Given the description of an element on the screen output the (x, y) to click on. 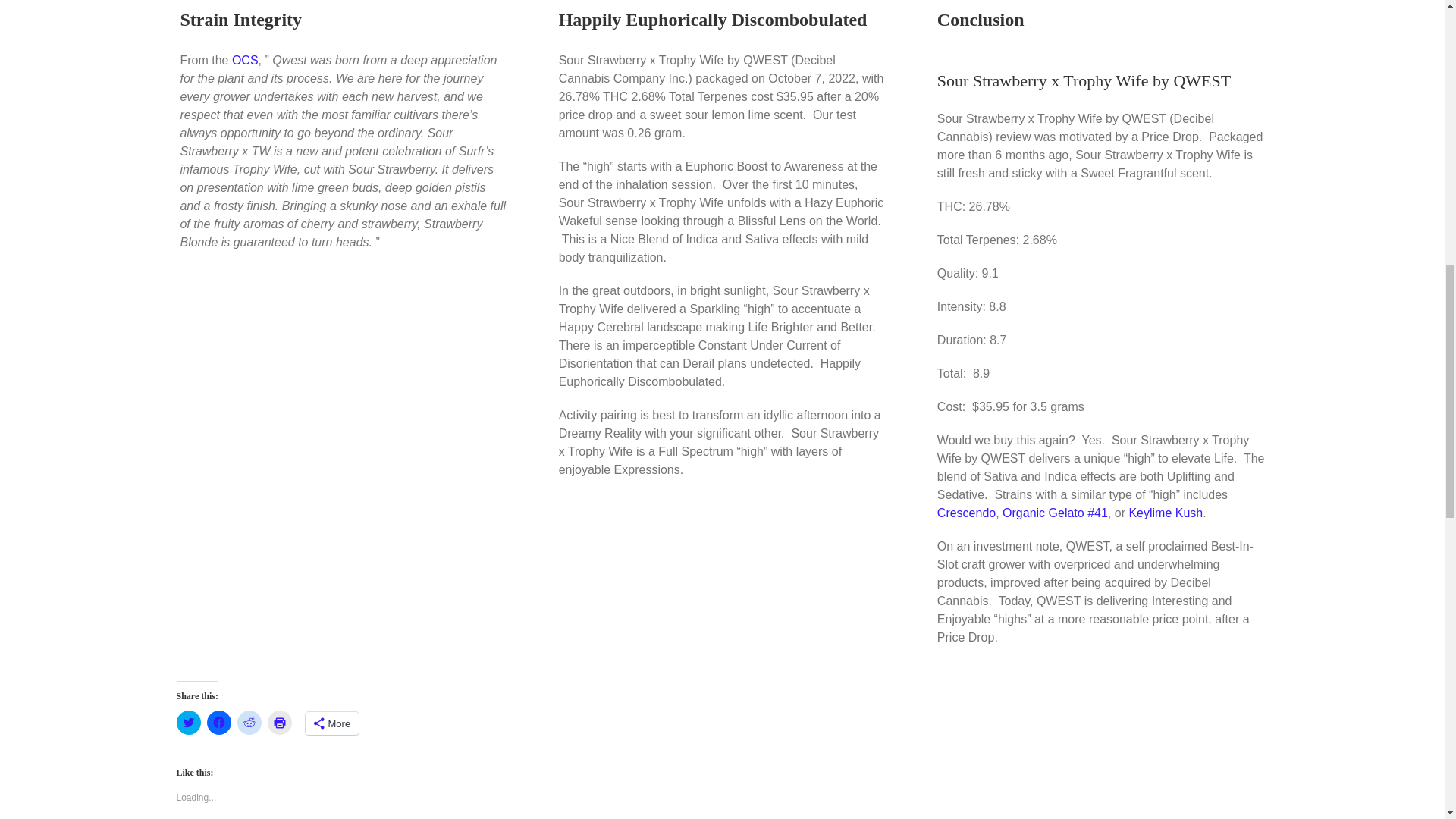
Click to share on Facebook (218, 722)
Click to share on Reddit (247, 722)
Click to print (278, 722)
Click to share on Twitter (188, 722)
